Given the description of an element on the screen output the (x, y) to click on. 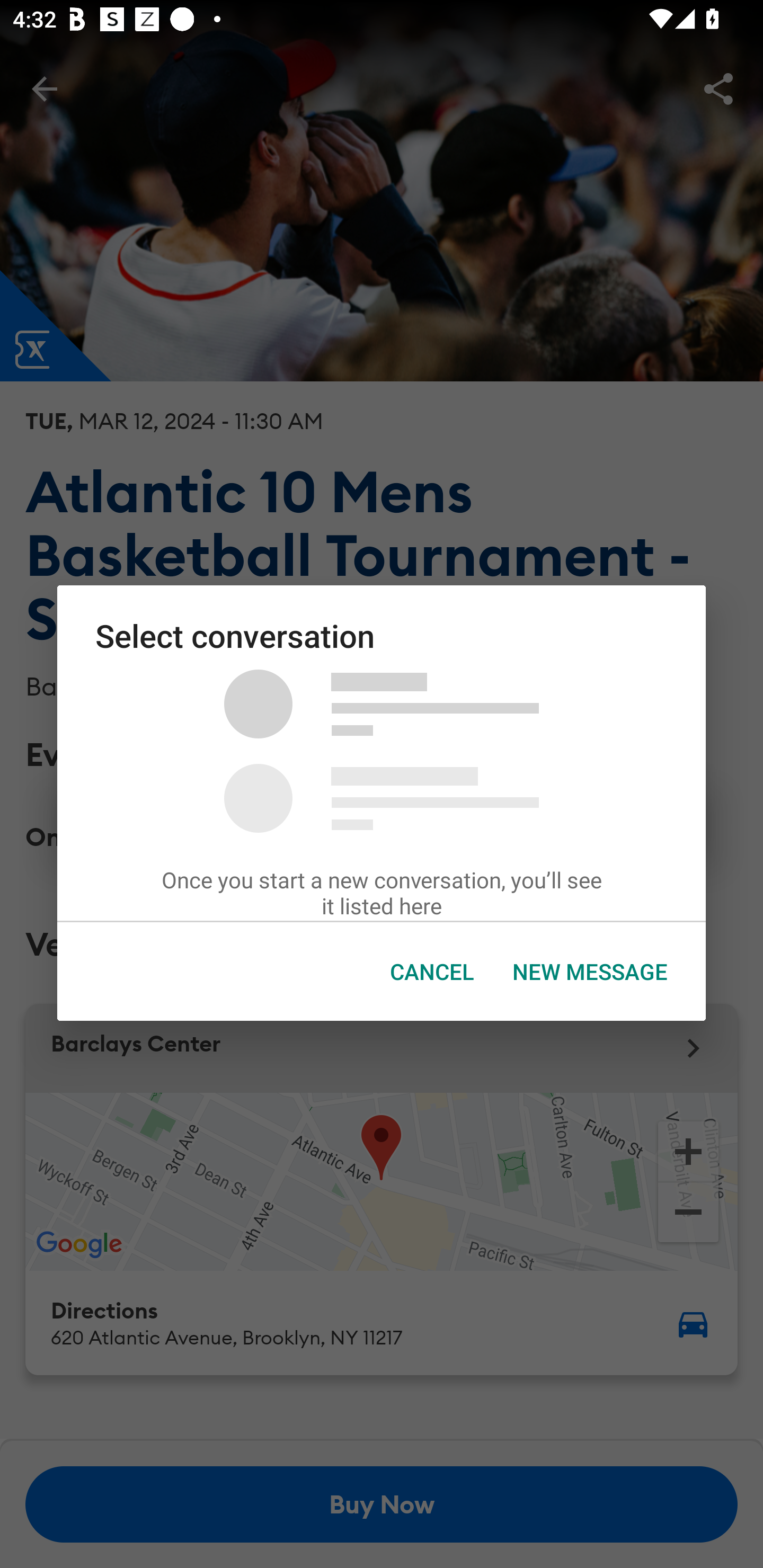
CANCEL (431, 971)
NEW MESSAGE (589, 971)
